Given the description of an element on the screen output the (x, y) to click on. 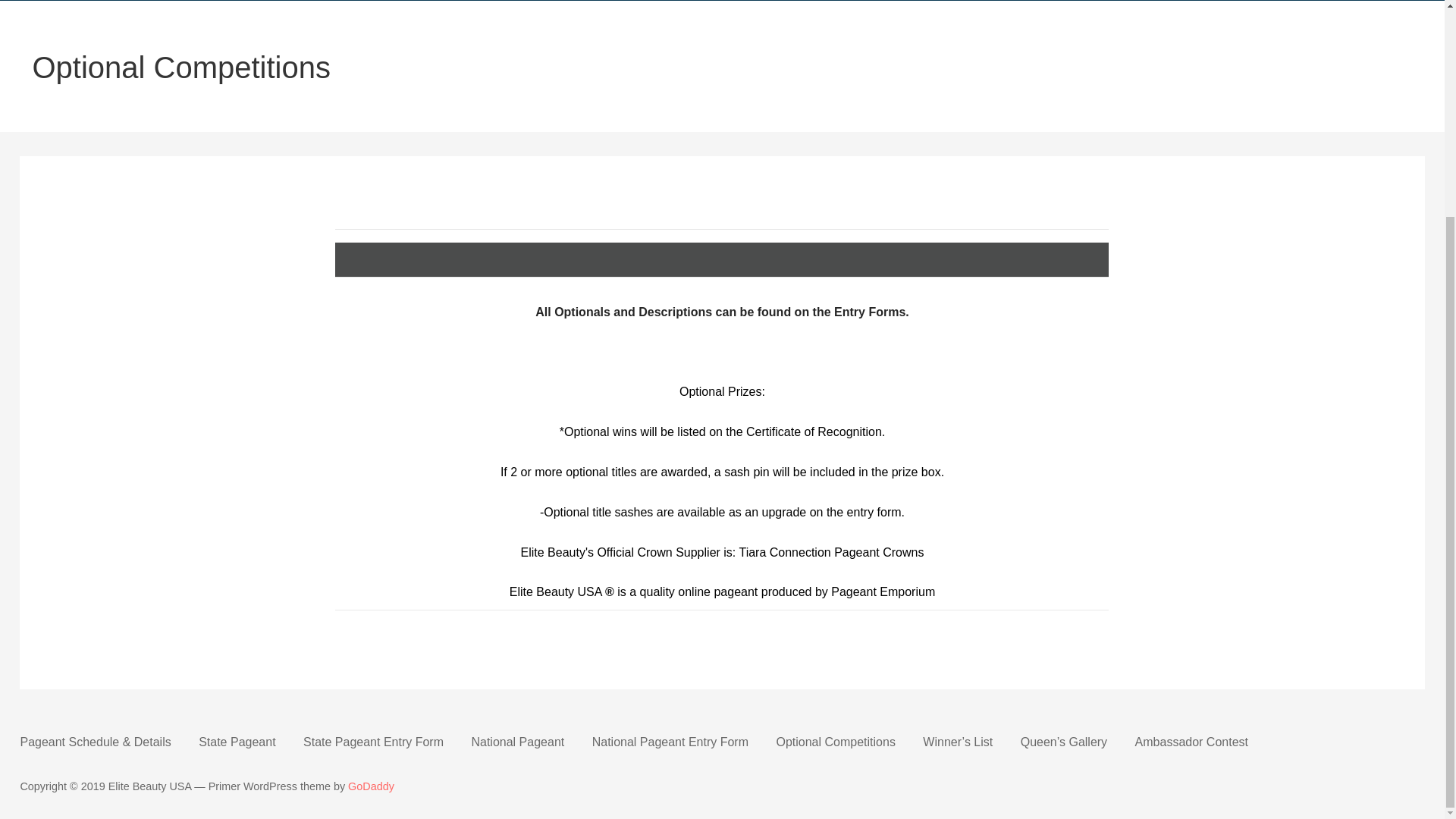
GoDaddy (370, 786)
Optional Competitions (835, 741)
National Pageant Entry Form (670, 741)
State Pageant Entry Form (373, 741)
National Pageant (517, 741)
Ambassador Contest (1191, 741)
Tiara Connection Pageant Crowns (830, 552)
State Pageant (236, 741)
Pageant Emporium (882, 591)
